Given the description of an element on the screen output the (x, y) to click on. 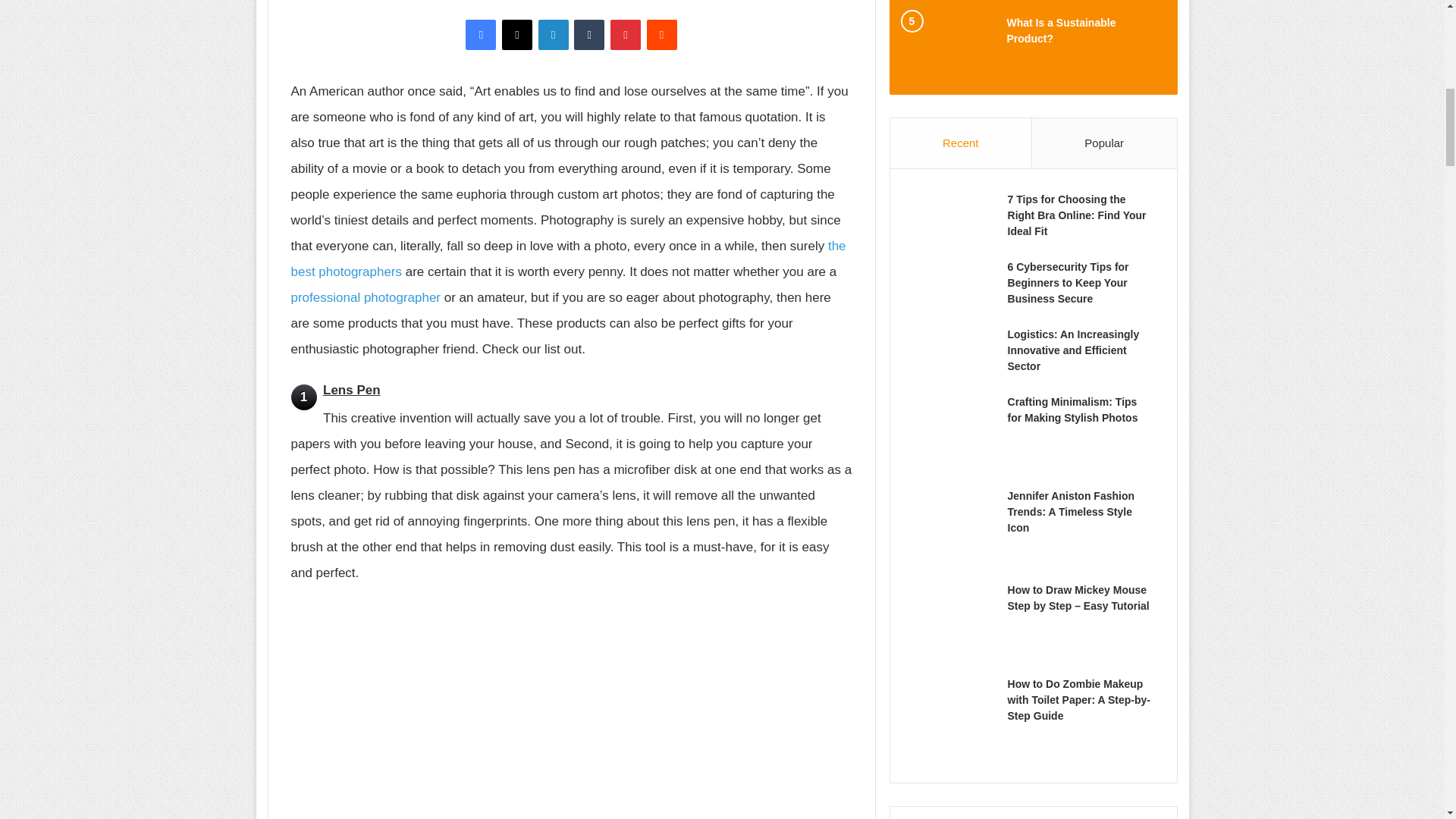
Reddit (661, 34)
Facebook (480, 34)
LinkedIn (553, 34)
Tumblr (588, 34)
Pinterest (625, 34)
X (517, 34)
